Given the description of an element on the screen output the (x, y) to click on. 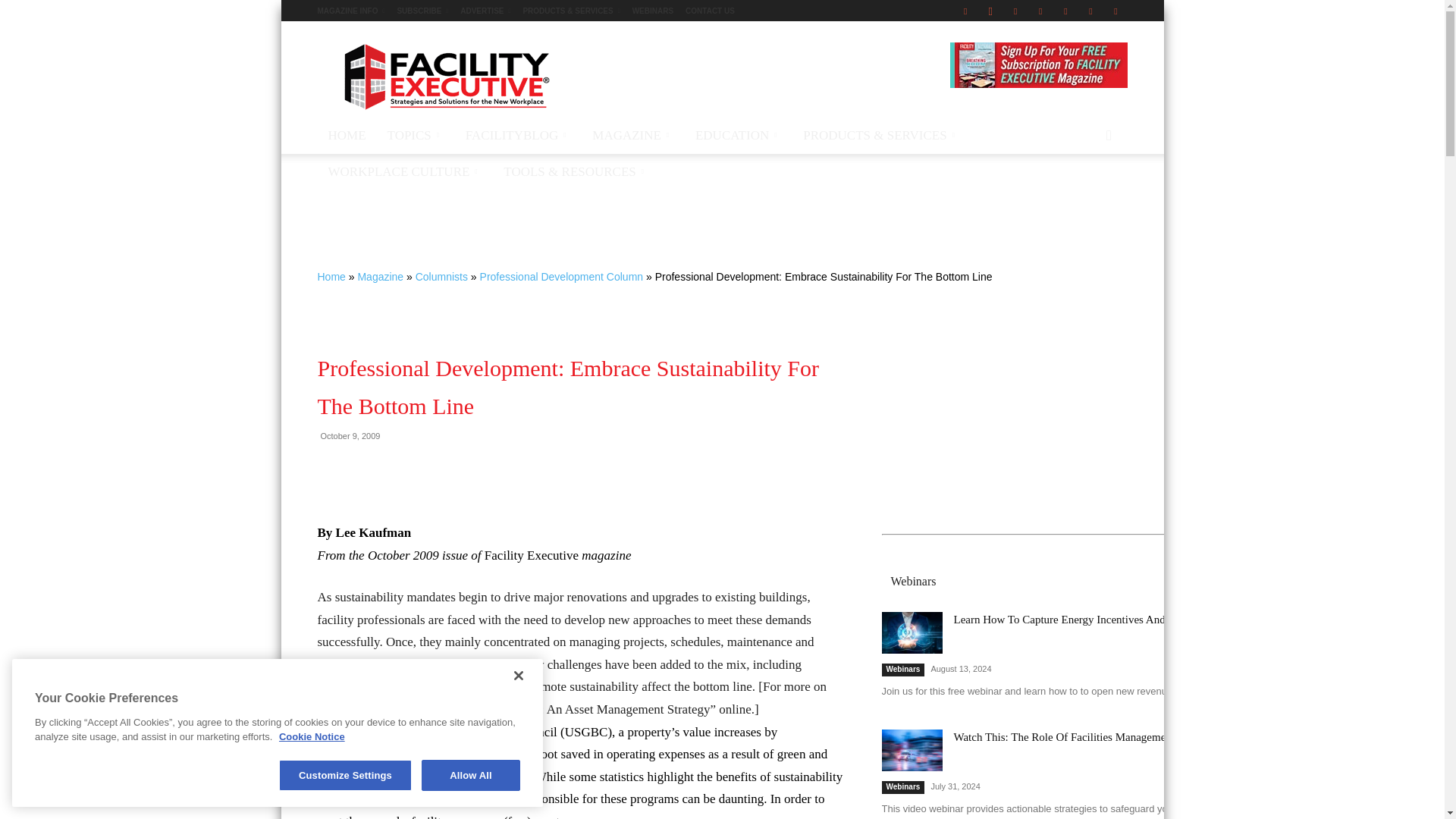
Youtube (1114, 10)
Instagram (989, 10)
RSS (1065, 10)
Strategies and Solutions for the New Workplace (445, 76)
Linkedin (1015, 10)
Twitter (1090, 10)
Pinterest (1040, 10)
Facebook (964, 10)
